Given the description of an element on the screen output the (x, y) to click on. 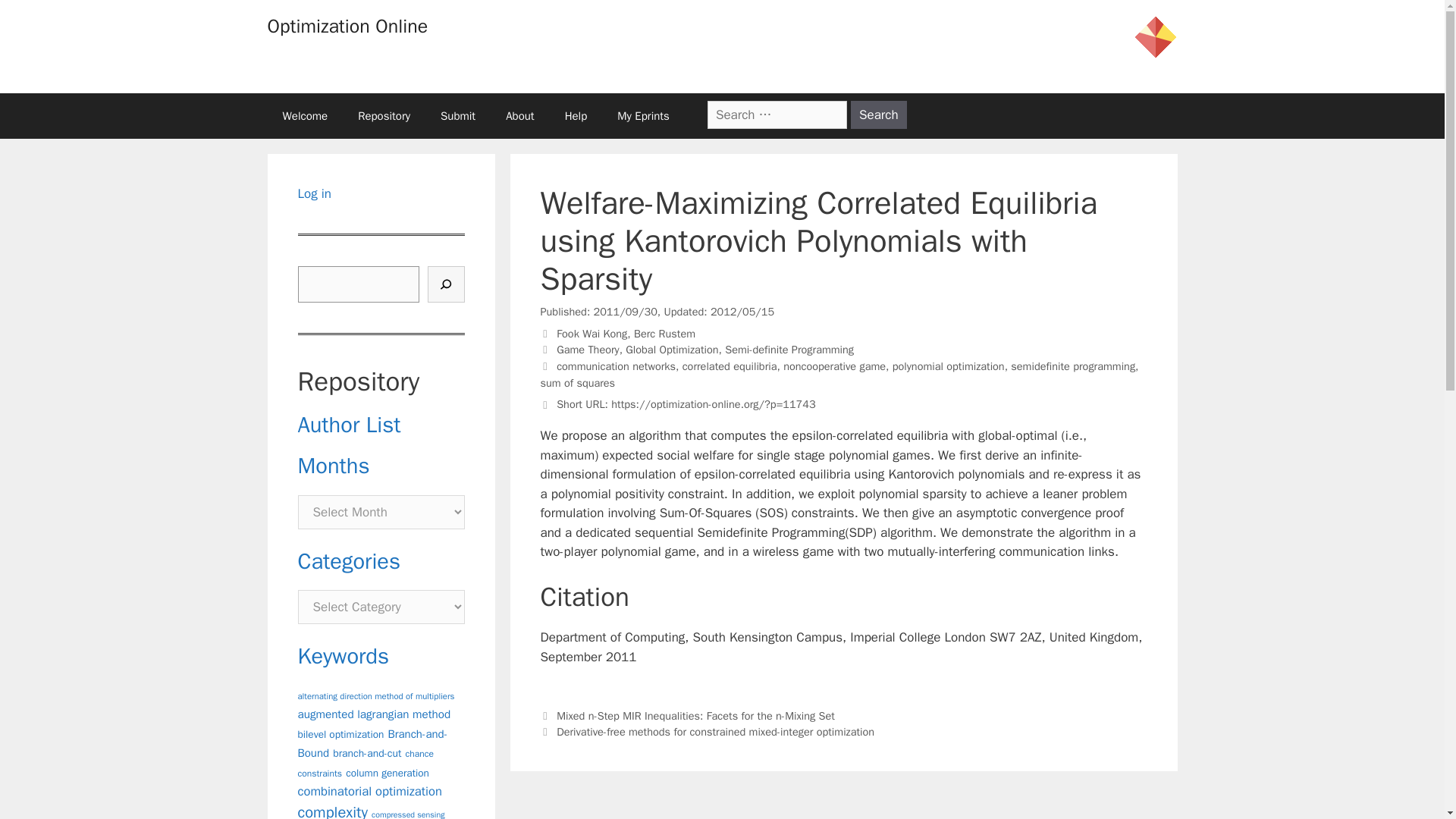
Branch-and-Bound (371, 743)
Repository (383, 115)
compressed sensing (407, 814)
Game Theory (587, 349)
Search (878, 113)
complexity (331, 811)
Previous (687, 715)
Search for: (777, 113)
Semi-definite Programming (789, 349)
